Given the description of an element on the screen output the (x, y) to click on. 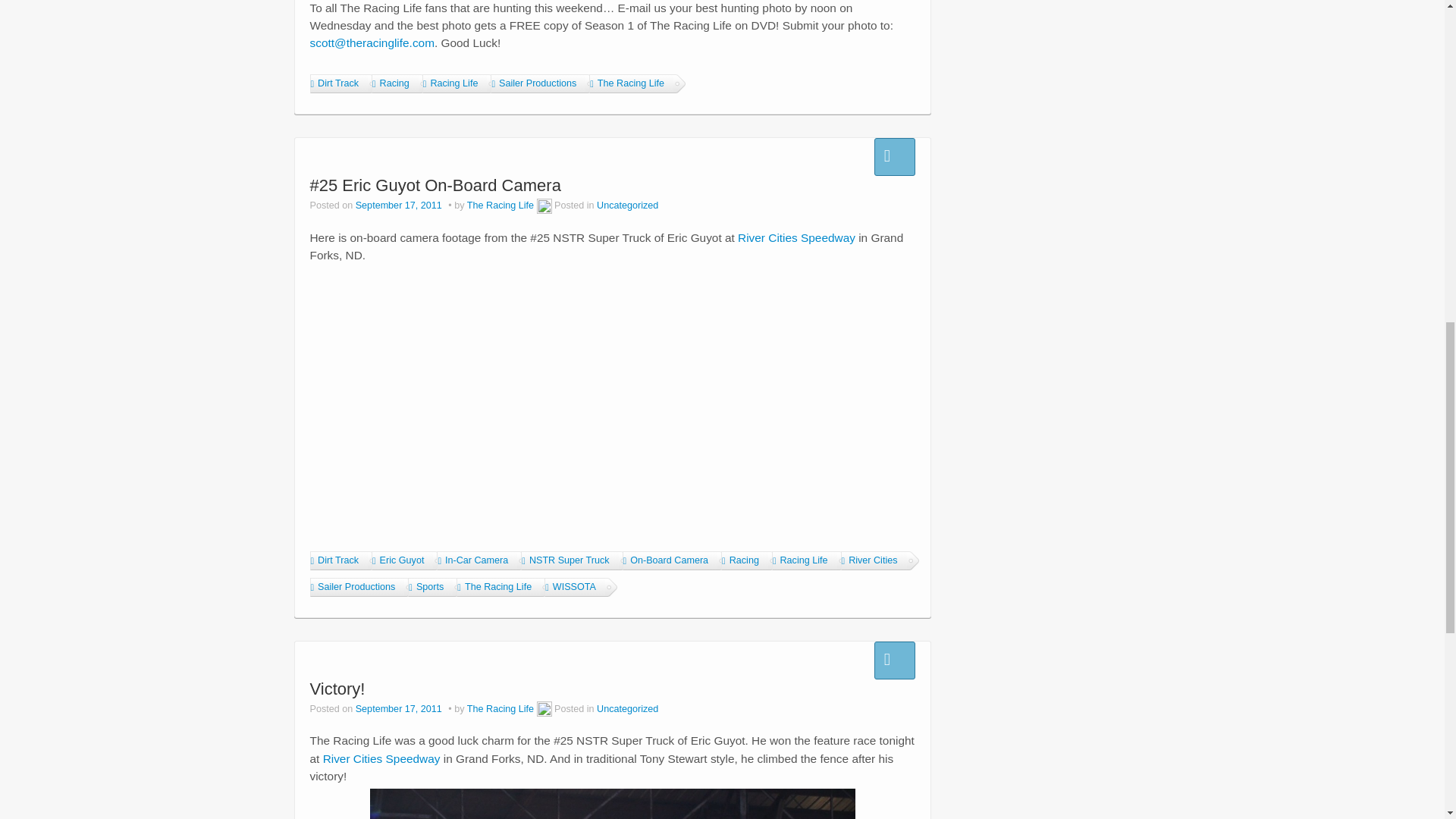
The Racing Life (630, 83)
Sailer Productions (537, 83)
Dirt Track (337, 83)
Racing Life (454, 83)
September 17, 2011 (400, 204)
Racing (395, 83)
